Given the description of an element on the screen output the (x, y) to click on. 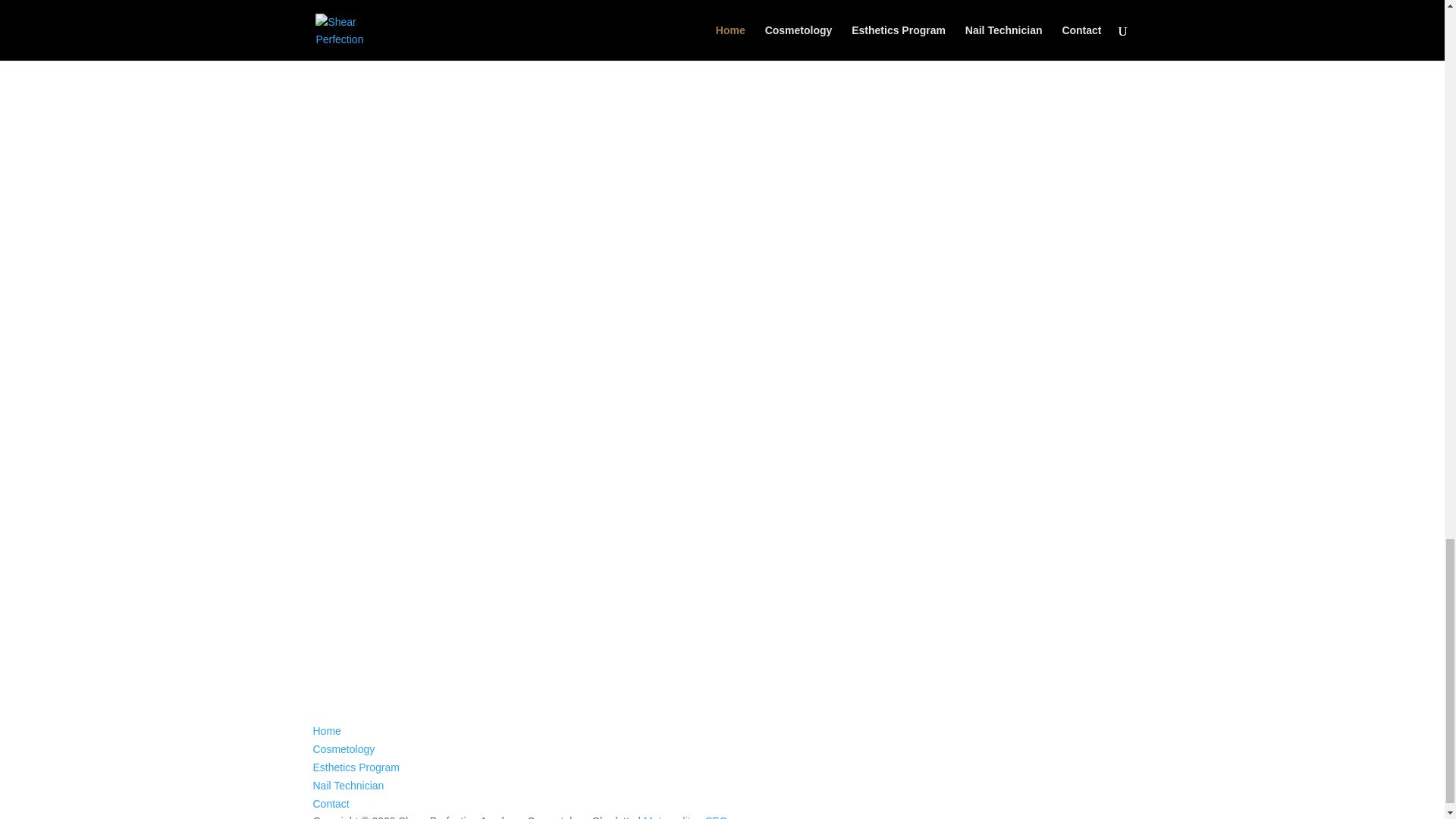
Metropolitan SEO (685, 816)
Cosmetology (343, 748)
Contact (331, 803)
Metropolitan SEO Website Design (685, 816)
Home (326, 730)
Nail Technician (348, 785)
Esthetics Program (355, 767)
